Given the description of an element on the screen output the (x, y) to click on. 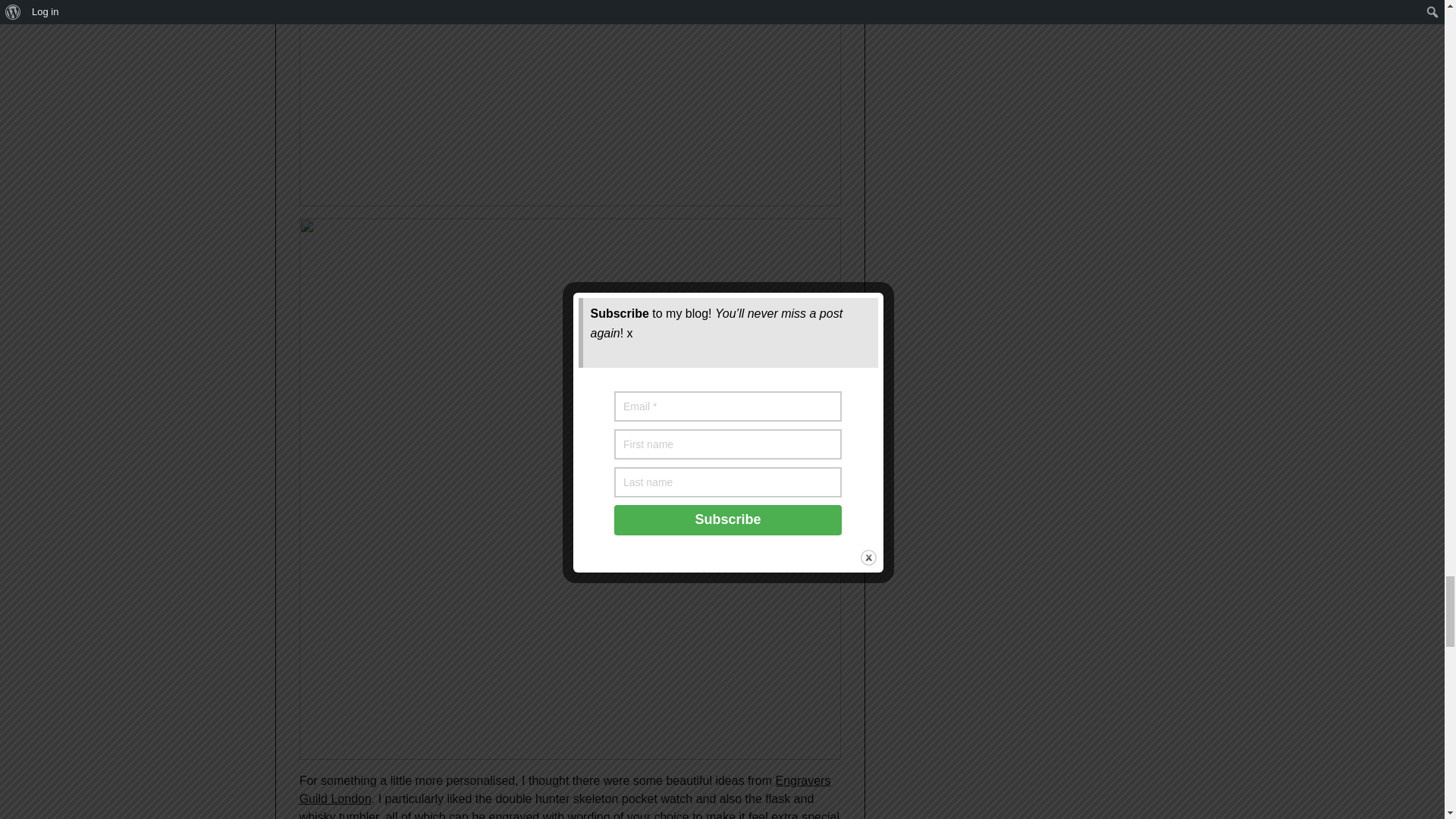
Engravers Guild London (565, 789)
